Given the description of an element on the screen output the (x, y) to click on. 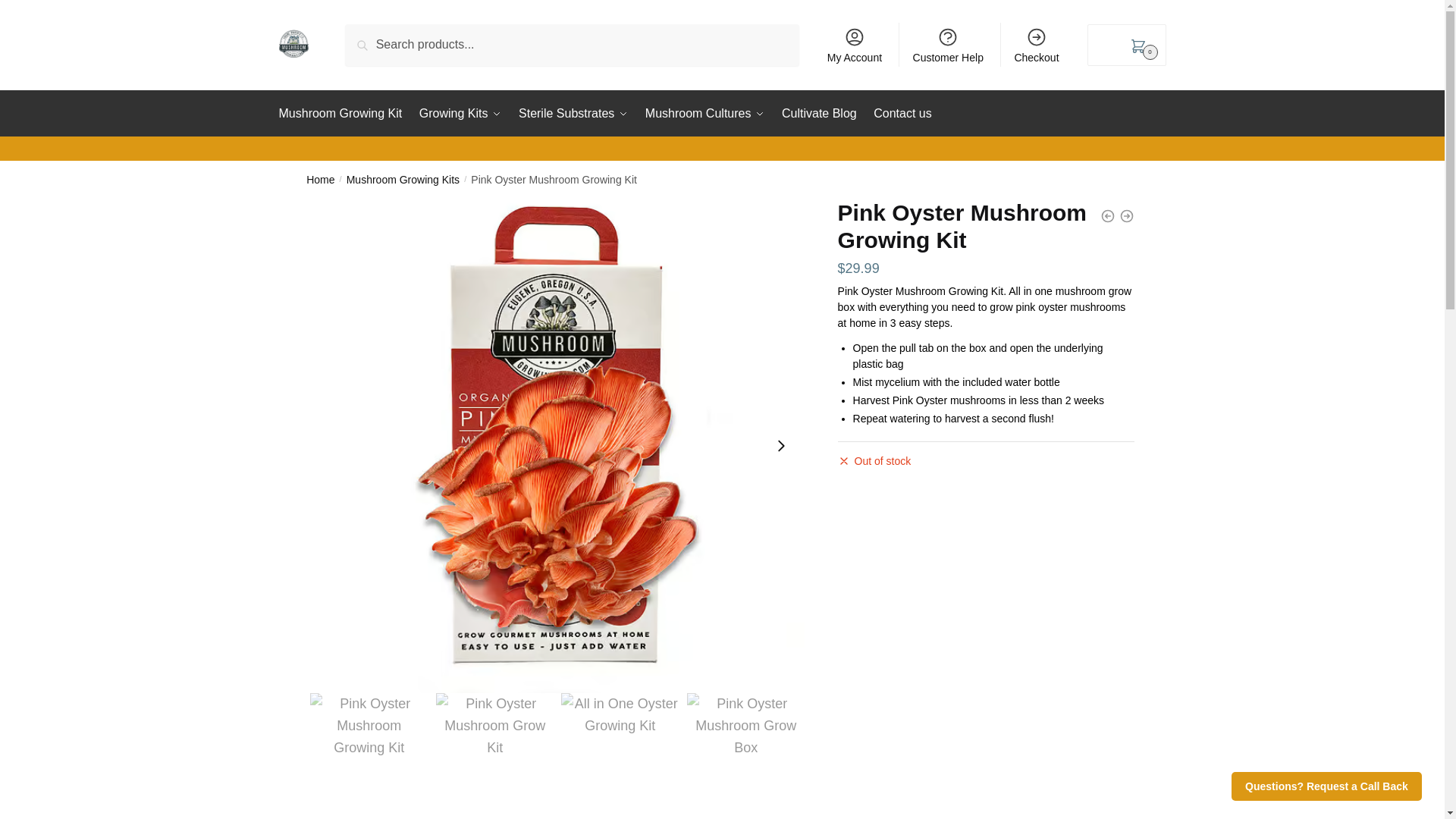
Growing Kits (460, 113)
Pink Oyster Mushroom Growing Kit 2 (494, 751)
Pink Oyster Mushroom Growing Kit 1 (369, 751)
Home (319, 179)
Pink Oyster Mushroom Growing Kit 4 (619, 751)
Mushroom Growing Kits (403, 179)
Mushroom Cultures (705, 113)
Customer Help (947, 44)
Checkout (1036, 44)
Search (369, 34)
My Account (853, 44)
View your shopping cart (1126, 45)
Sterile Substrates (573, 113)
Contact us (901, 113)
Pink Oyster Mushroom Growing Kit 3 (746, 751)
